Given the description of an element on the screen output the (x, y) to click on. 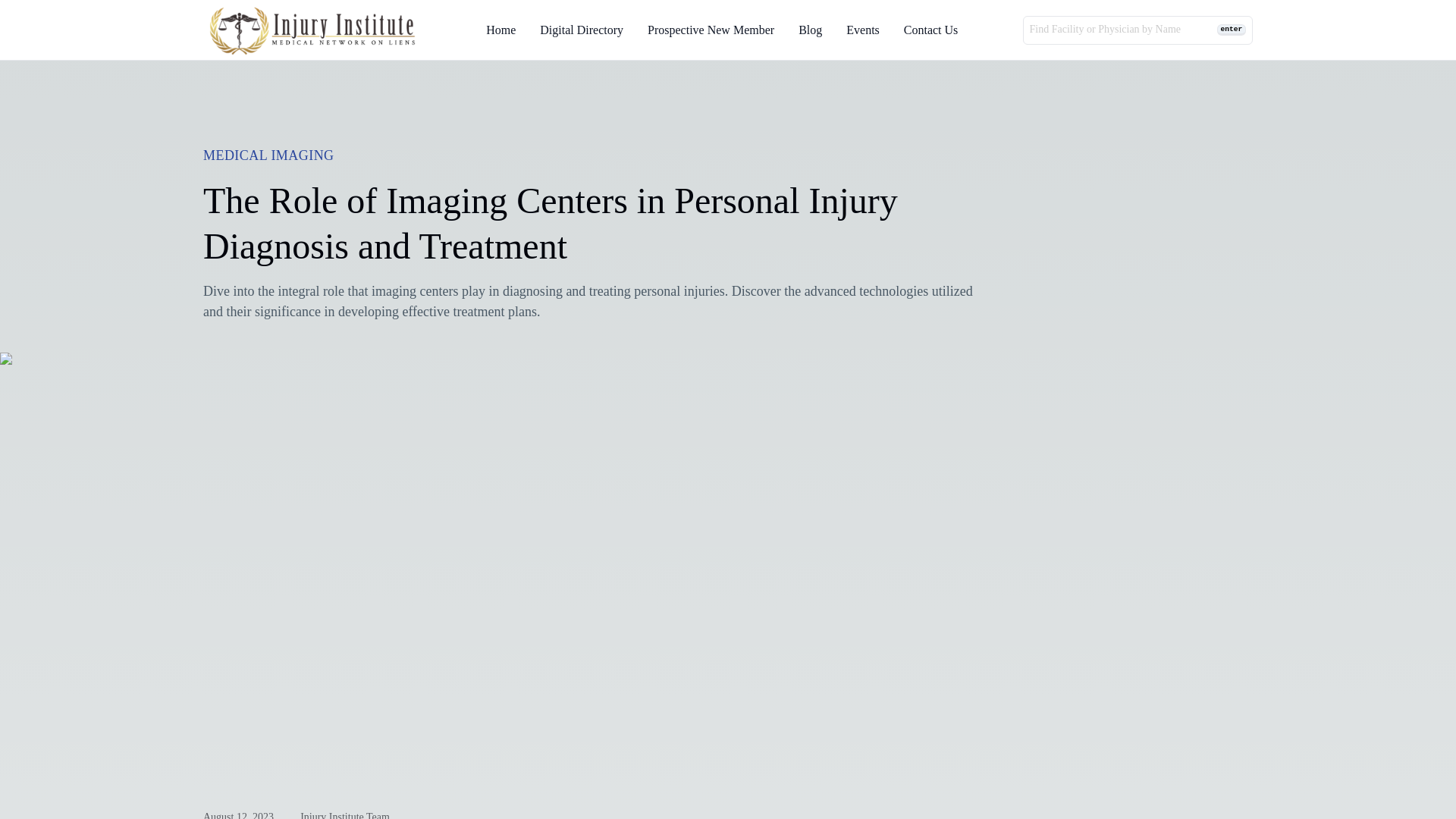
Digital Directory (581, 30)
Home (500, 30)
Contact Us (931, 30)
Prospective New Member (710, 30)
Events (862, 30)
Blog (809, 30)
